Given the description of an element on the screen output the (x, y) to click on. 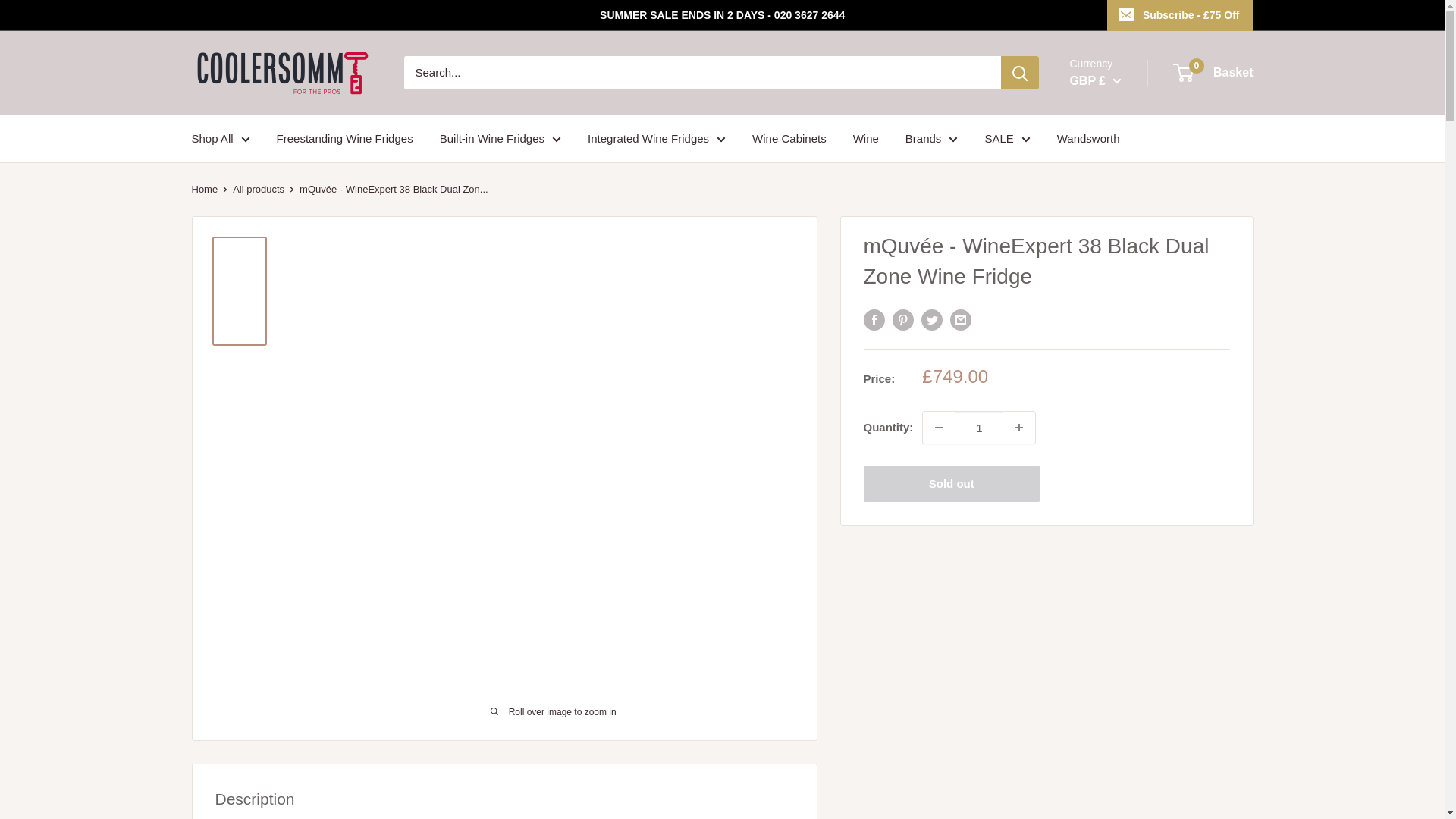
1 (979, 427)
Increase quantity by 1 (1019, 427)
SUMMER SALE ENDS IN 2 DAYS - 020 3627 2644 (648, 15)
Decrease quantity by 1 (939, 427)
